Given the description of an element on the screen output the (x, y) to click on. 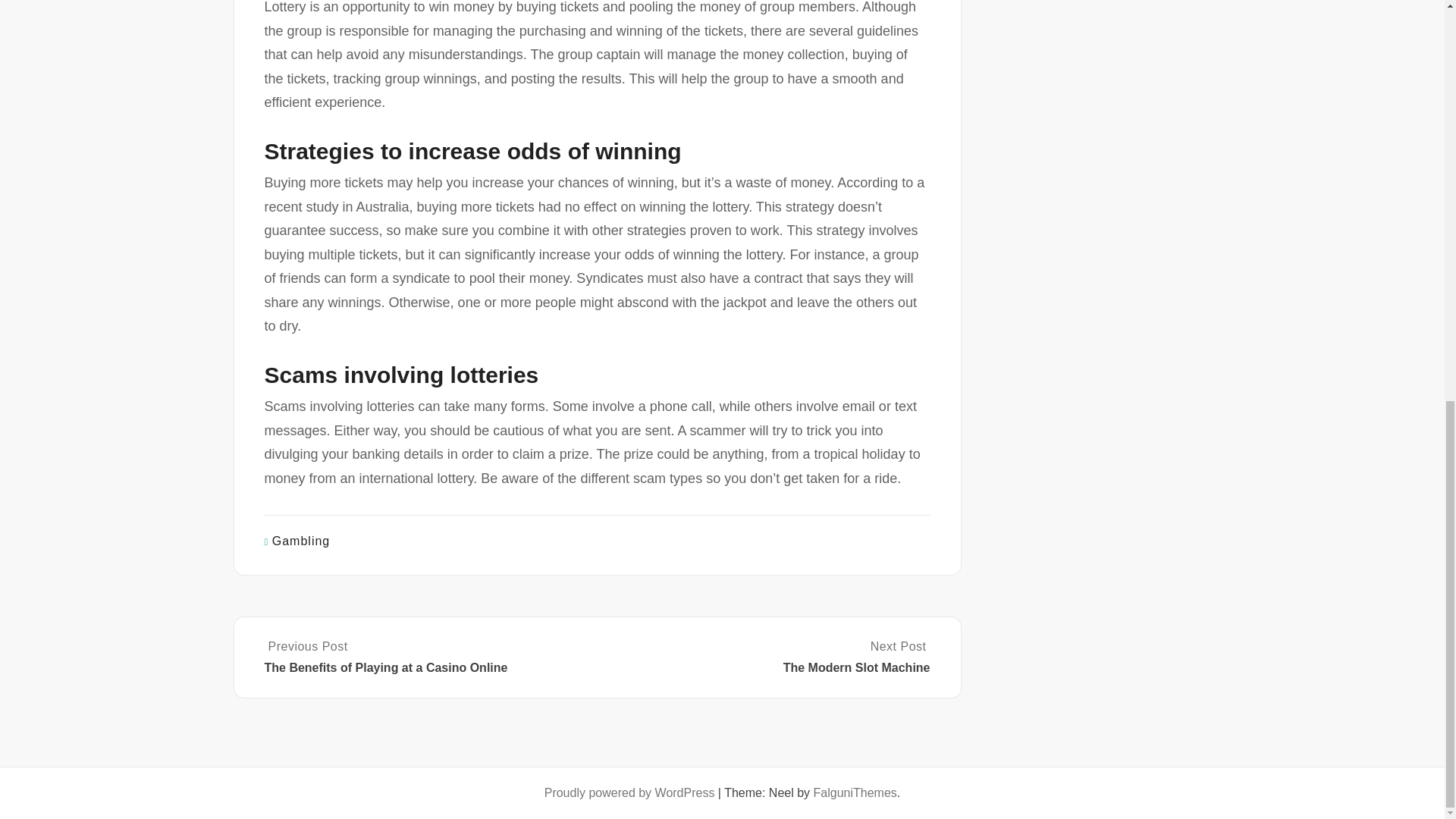
FalguniThemes (854, 792)
Gambling (301, 540)
Proudly powered by WordPress (629, 792)
